Given the description of an element on the screen output the (x, y) to click on. 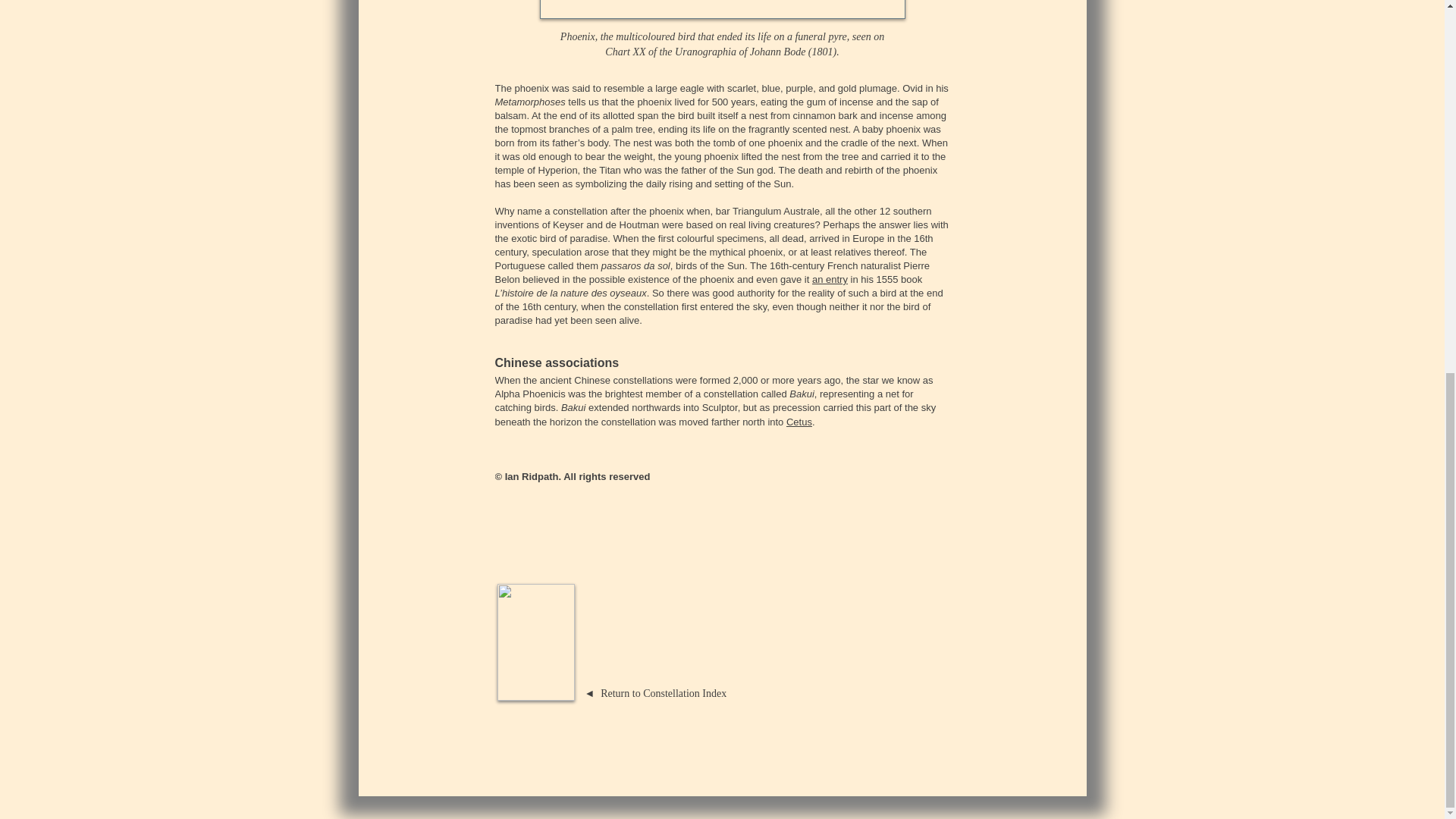
Return to Constellation Index (662, 693)
Cetus (799, 420)
an entry (829, 279)
Phoenix Bode (722, 9)
